Given the description of an element on the screen output the (x, y) to click on. 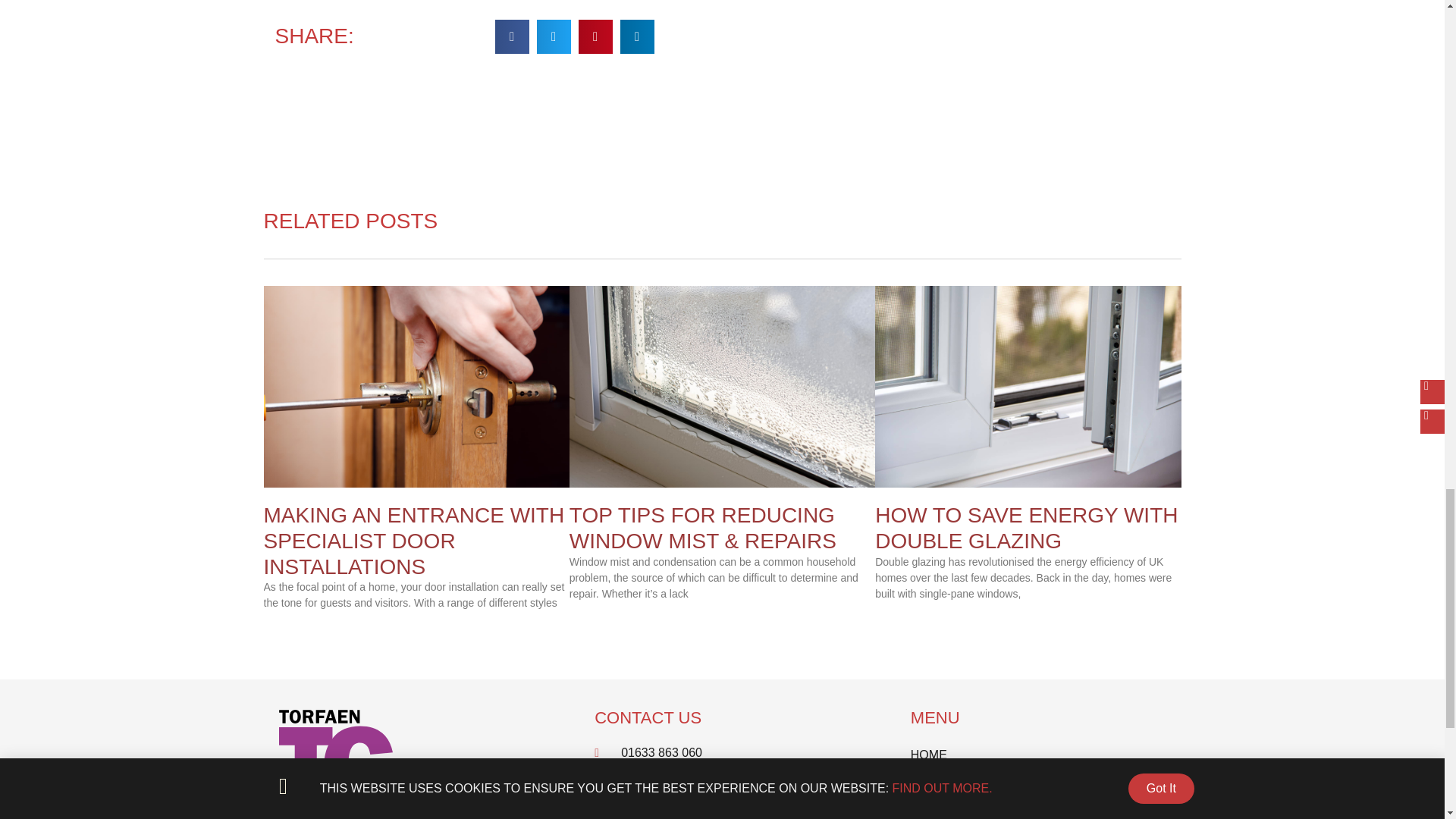
MAKING AN ENTRANCE WITH SPECIALIST DOOR INSTALLATIONS (413, 540)
01633 863 060 (722, 752)
HOW TO SAVE ENERGY WITH DOUBLE GLAZING (1026, 527)
